Given the description of an element on the screen output the (x, y) to click on. 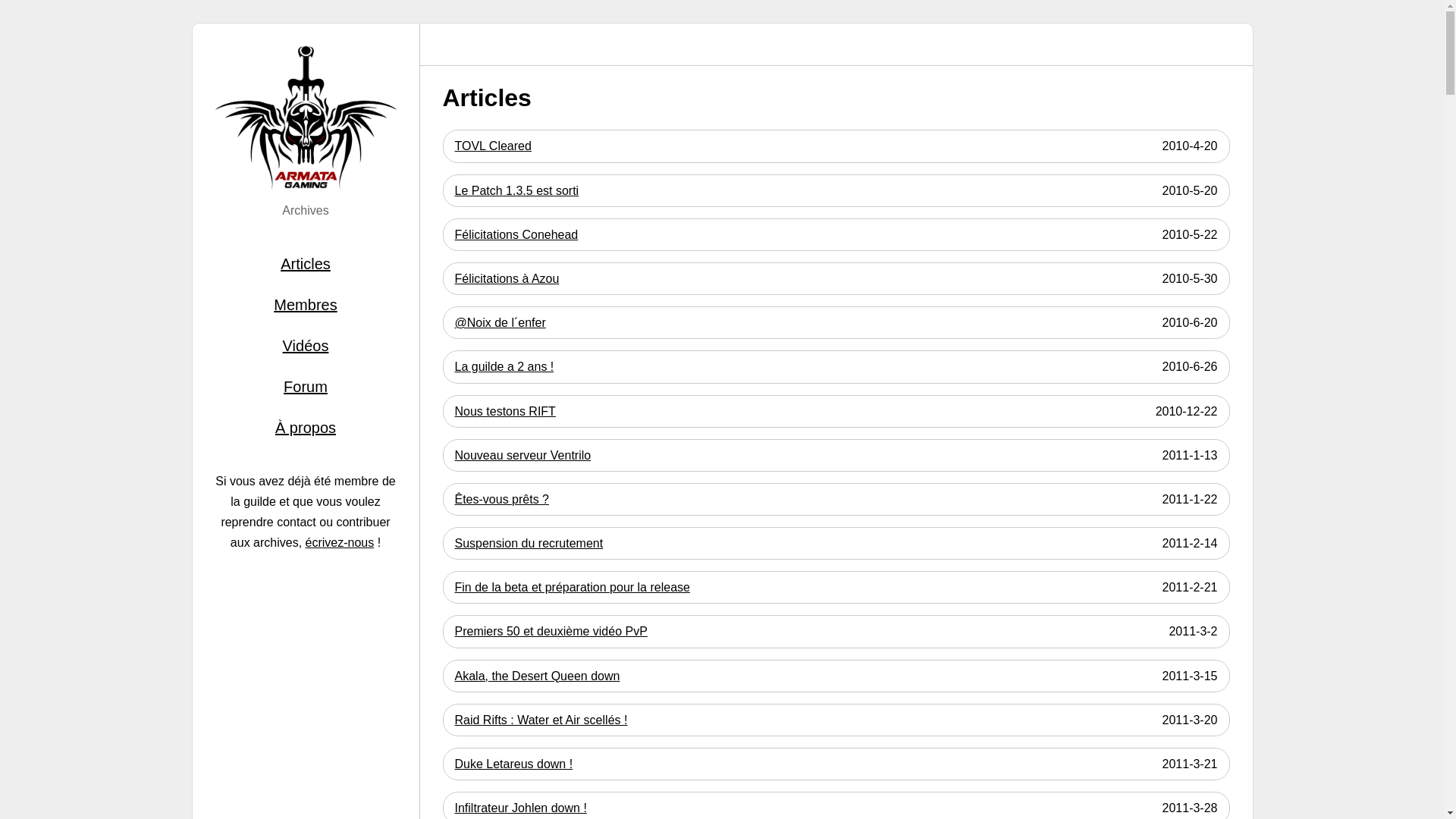
Infiltrateur Johlen down ! Element type: text (520, 807)
Duke Letareus down ! Element type: text (514, 763)
Membres Element type: text (305, 304)
Akala, the Desert Queen down Element type: text (537, 675)
TOVL Cleared Element type: text (493, 145)
Articles Element type: text (305, 263)
Nous testons RIFT Element type: text (505, 411)
Nouveau serveur Ventrilo Element type: text (523, 455)
La guilde a 2 ans ! Element type: text (504, 366)
Suspension du recrutement Element type: text (529, 543)
Le Patch 1.3.5 est sorti Element type: text (517, 190)
Forum Element type: text (305, 386)
